Given the description of an element on the screen output the (x, y) to click on. 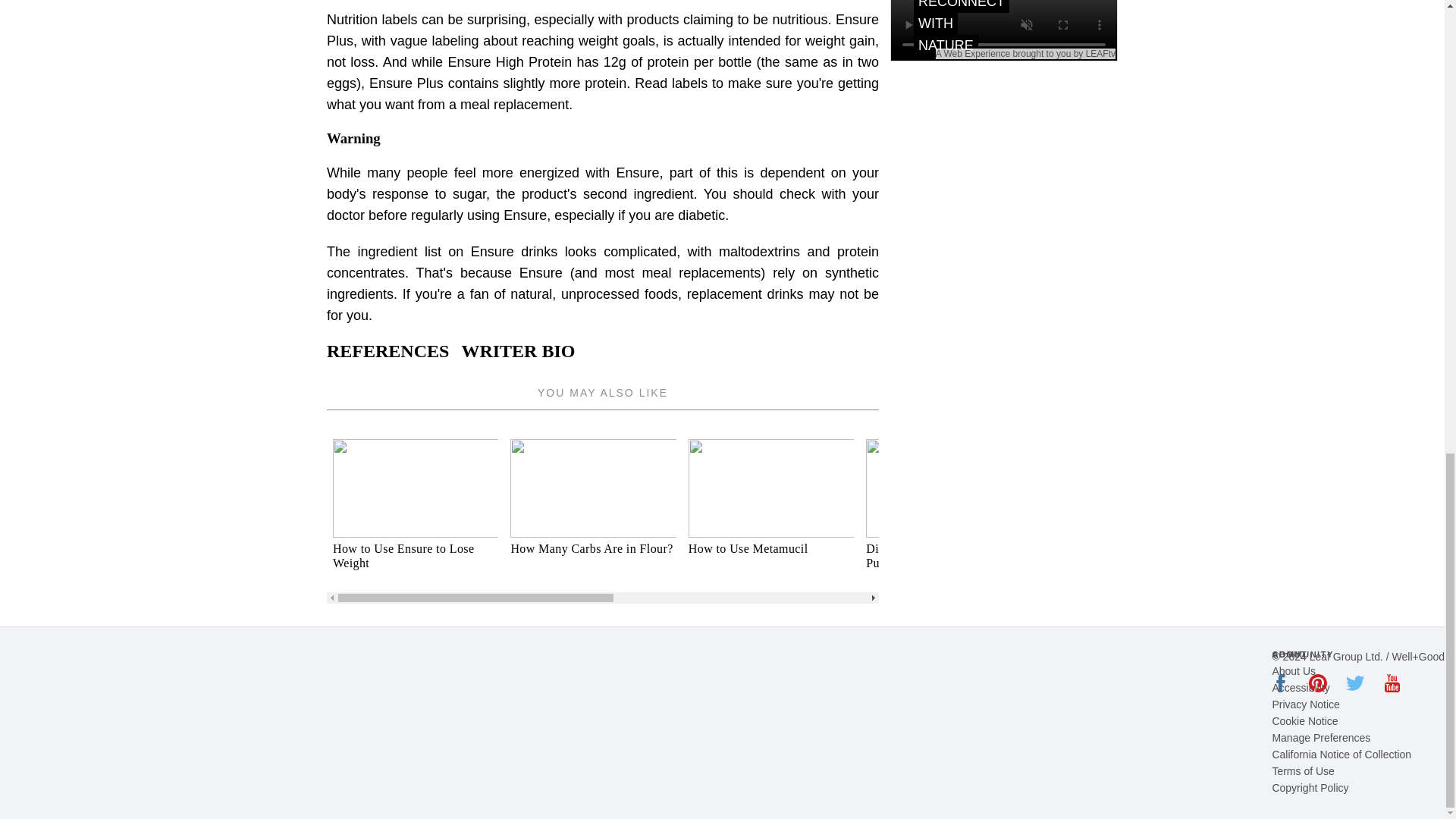
How to Use Ensure to Lose Weight (415, 555)
How to Use Ensure to Lose Weight (415, 514)
How to Use Metamucil (770, 548)
How Many Carbs Are in Flour? (593, 514)
How to Use Metamucil (770, 514)
How to Take Glucomannan (1304, 548)
Coconut Flour Substitutes (1126, 548)
How Many Carbs Are in Flour? (593, 548)
How to Take Glucomannan (1304, 514)
Coconut Flour Substitutes (1126, 514)
